Given the description of an element on the screen output the (x, y) to click on. 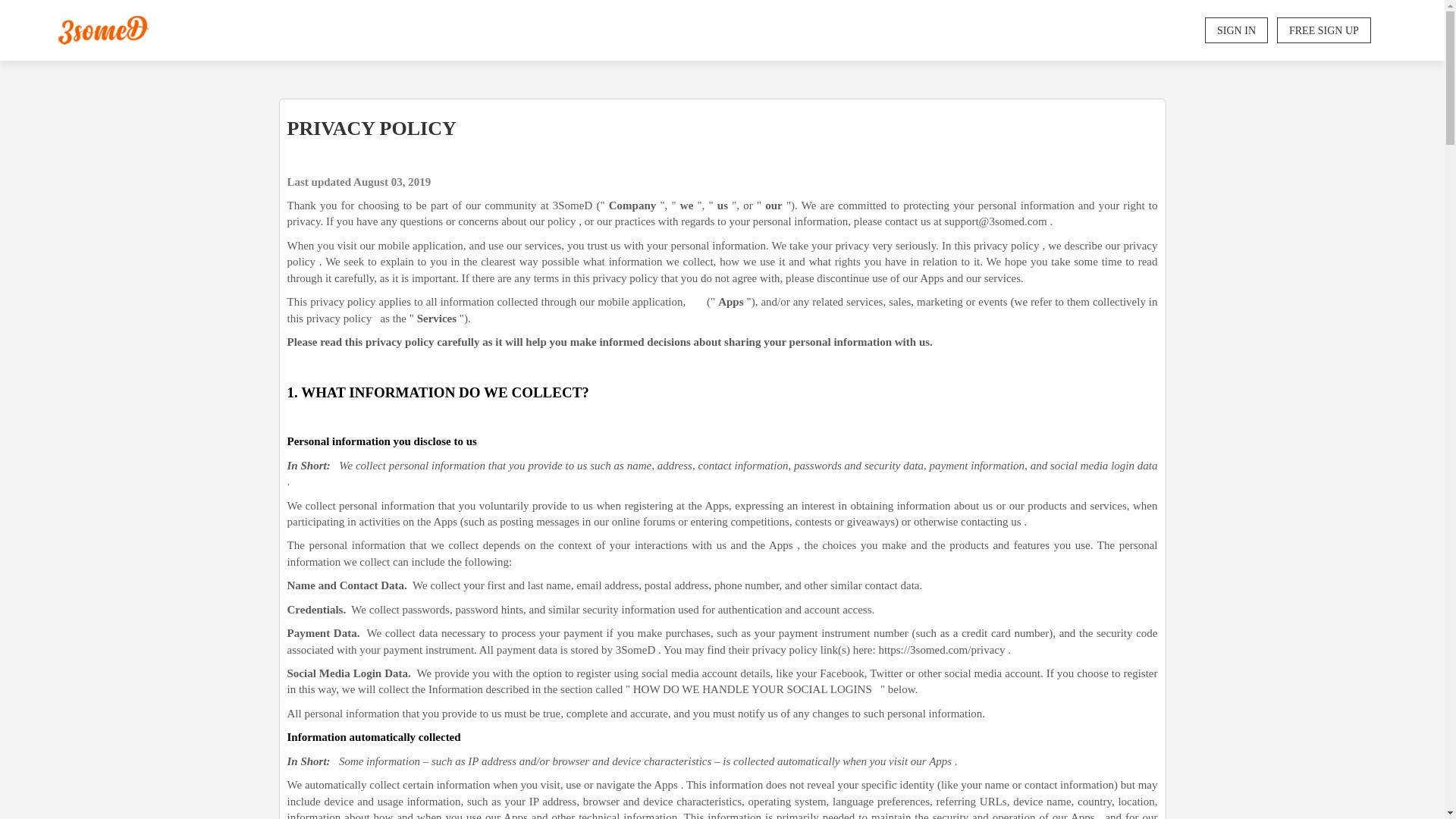
SIGN IN Element type: text (1235, 30)
FREE SIGN UP Element type: text (1324, 30)
